Given the description of an element on the screen output the (x, y) to click on. 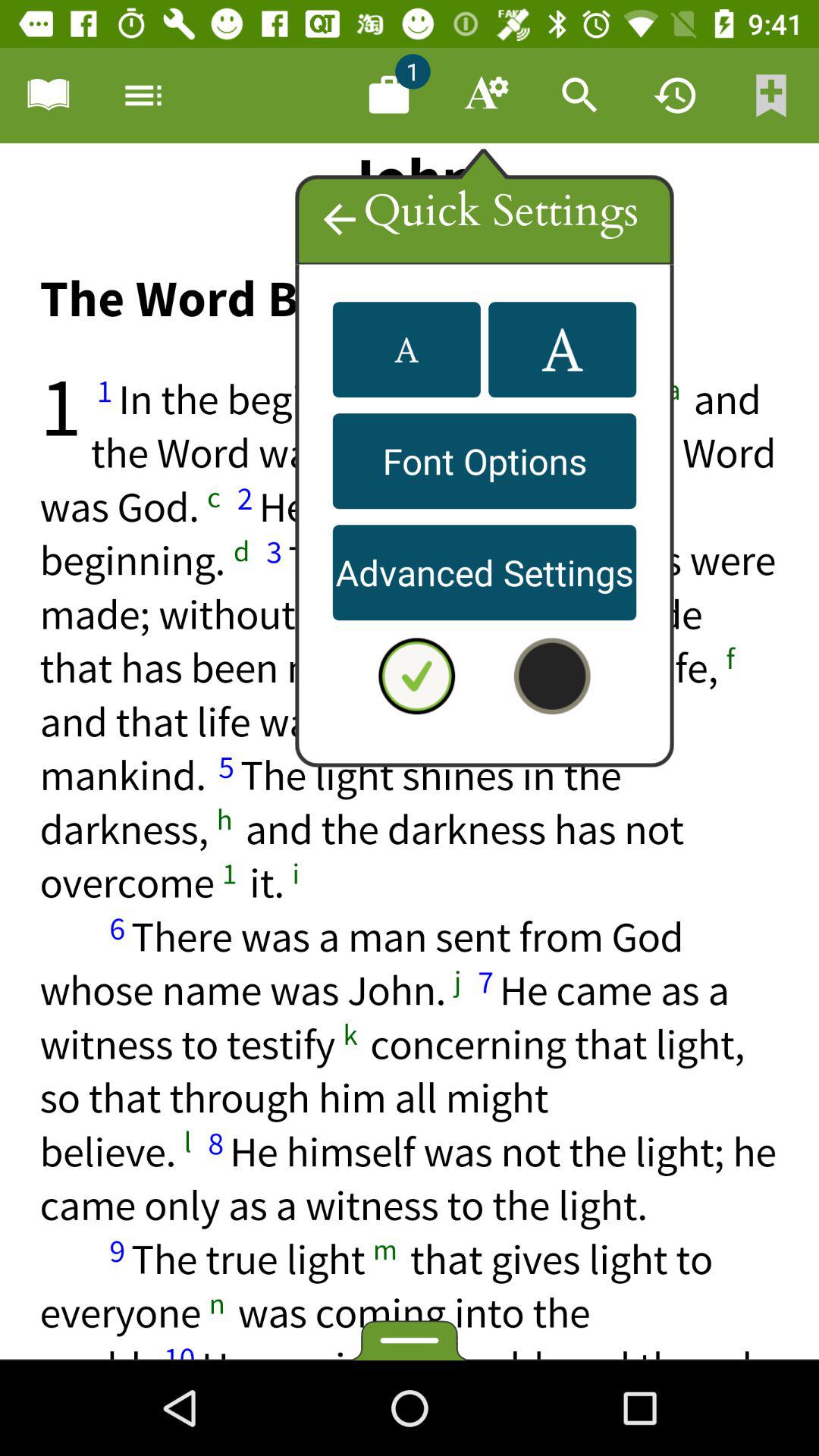
check history (675, 95)
